Given the description of an element on the screen output the (x, y) to click on. 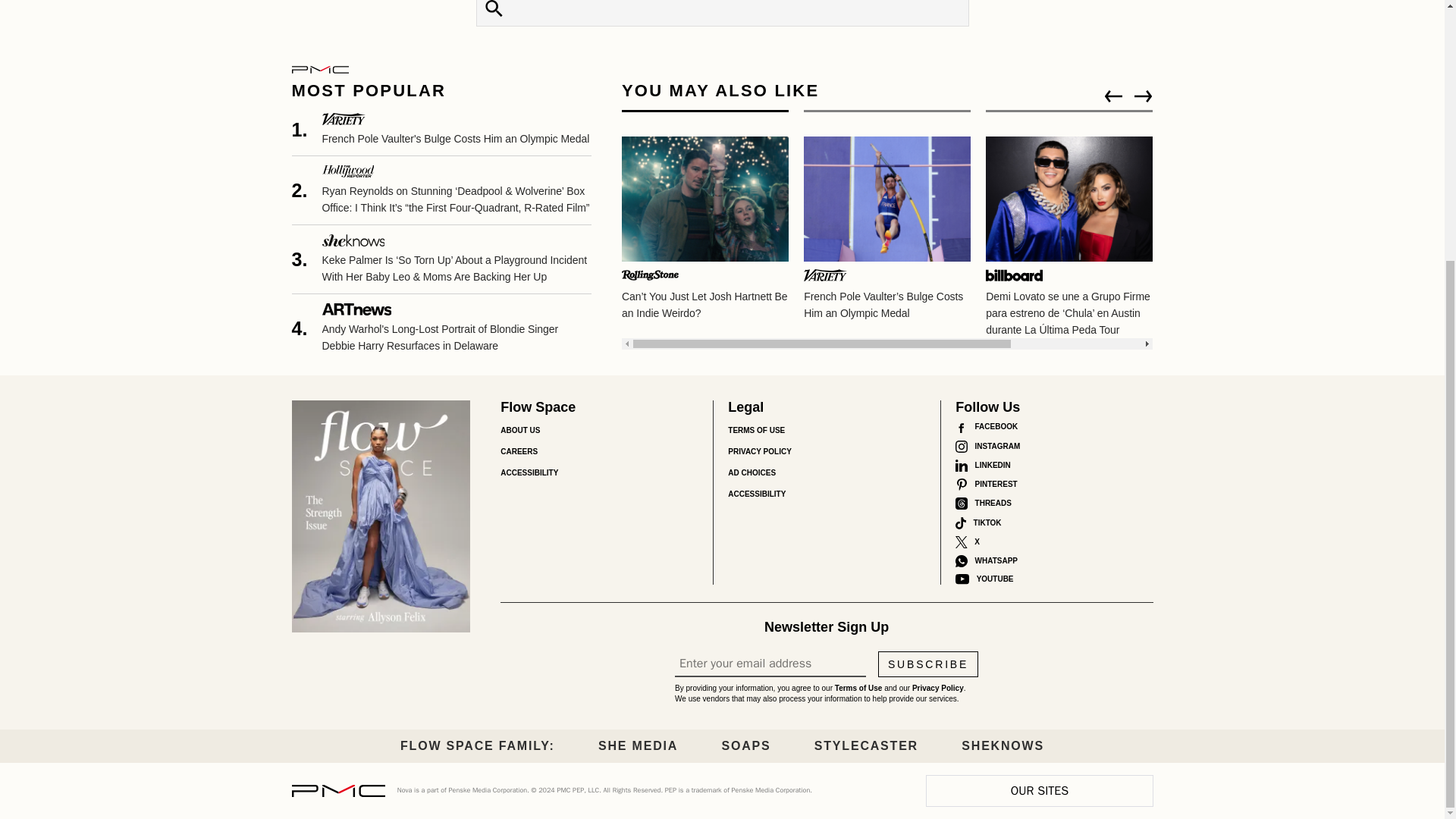
Submit (494, 12)
